Given the description of an element on the screen output the (x, y) to click on. 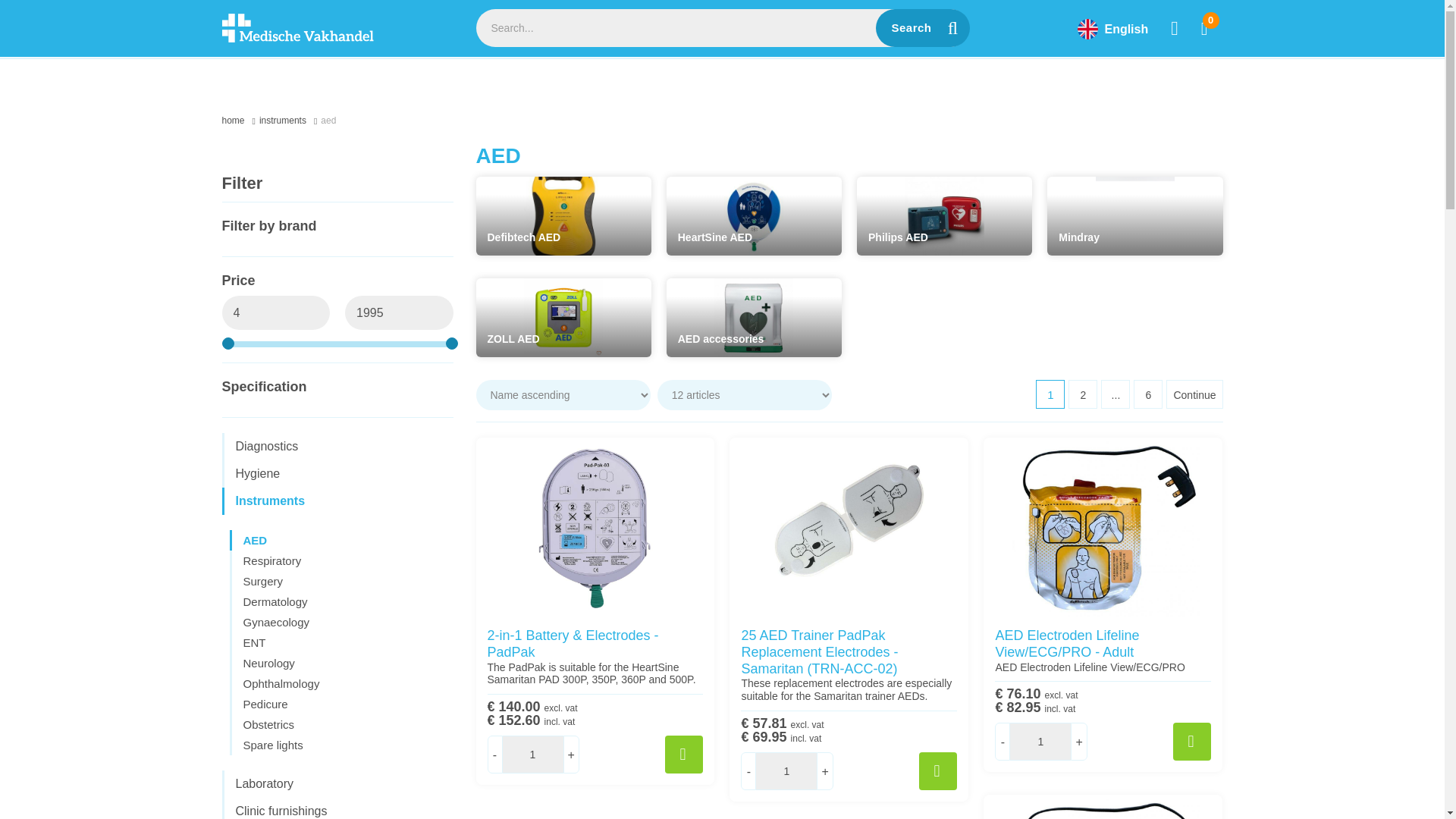
1995 (398, 312)
1 (785, 771)
Search (922, 27)
1 (1040, 741)
English (1112, 32)
Home (240, 120)
1 (532, 754)
4 (275, 312)
Instruments (289, 120)
